Given the description of an element on the screen output the (x, y) to click on. 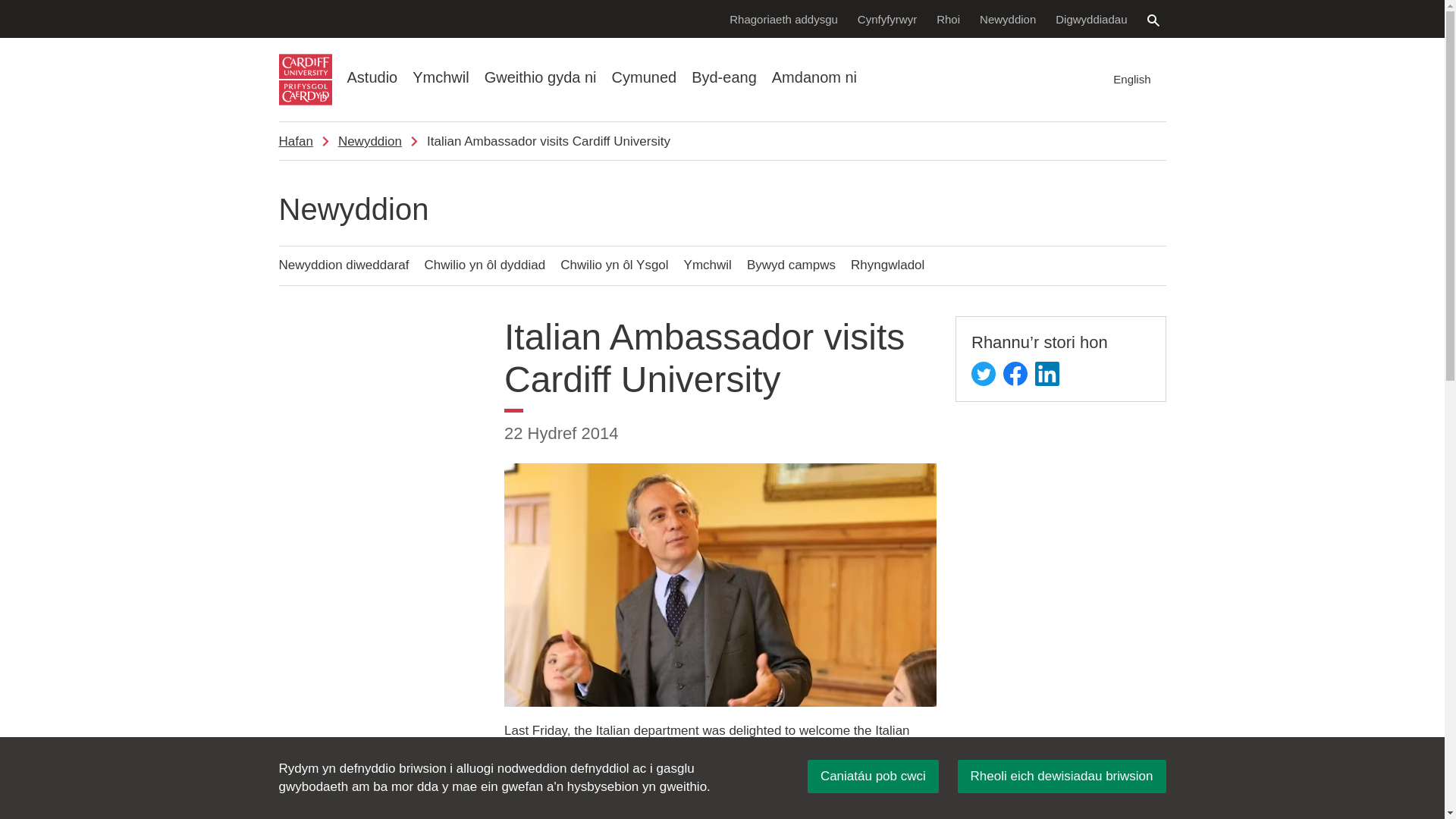
Twitter (983, 373)
Newyddion (1007, 19)
Rhoi (948, 19)
Rhagoriaeth addysgu (783, 19)
Digwyddiadau (1090, 19)
Cardiff University logo (305, 79)
Astudio (372, 77)
Search (1152, 20)
facebook (1015, 373)
LinkedIn (1047, 373)
